Given the description of an element on the screen output the (x, y) to click on. 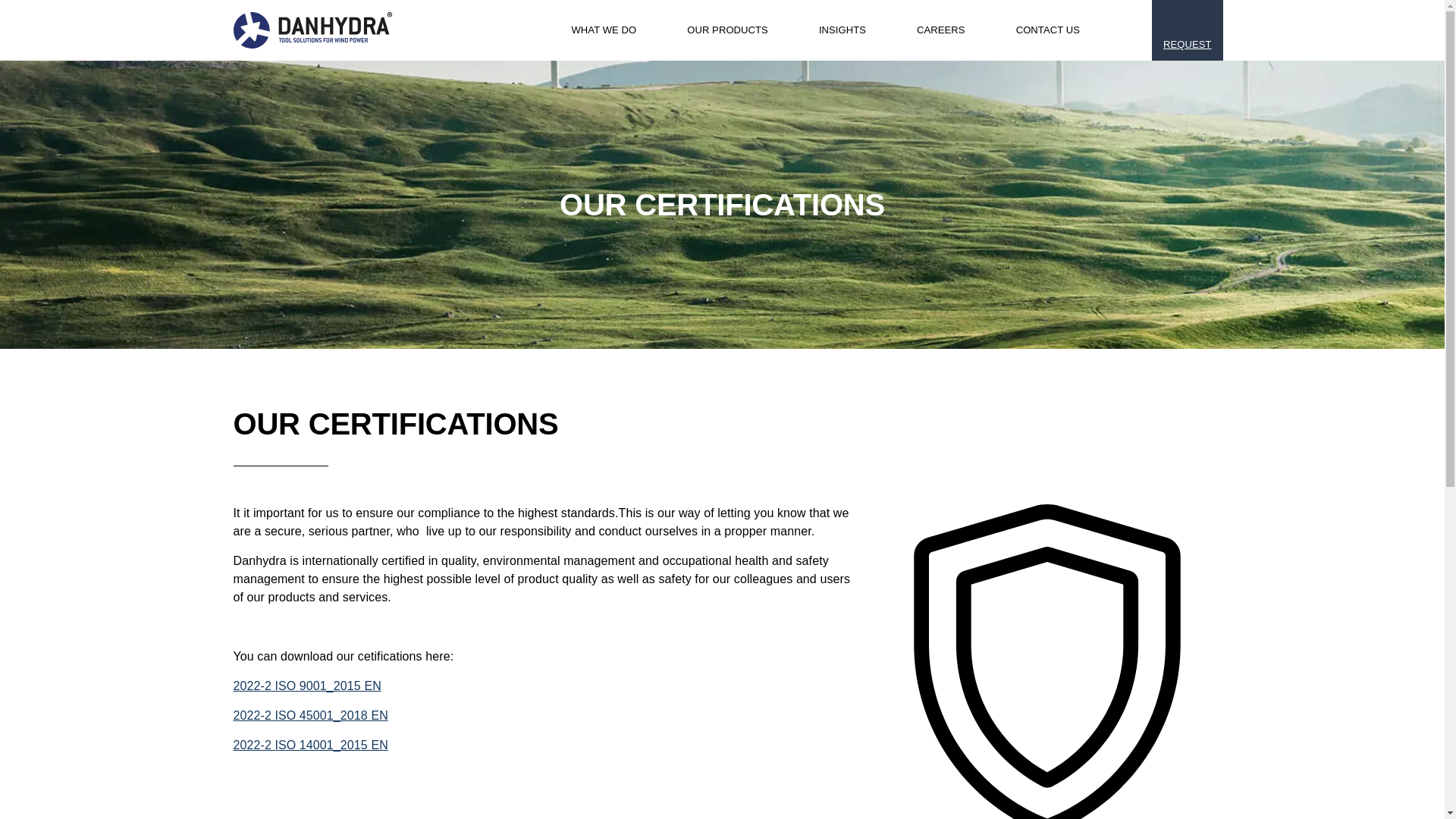
INSIGHTS (829, 30)
OUR PRODUCTS (714, 30)
WHAT WE DO (590, 30)
REQUEST (1187, 30)
CONTACT US (1035, 30)
CAREERS (928, 30)
